Given the description of an element on the screen output the (x, y) to click on. 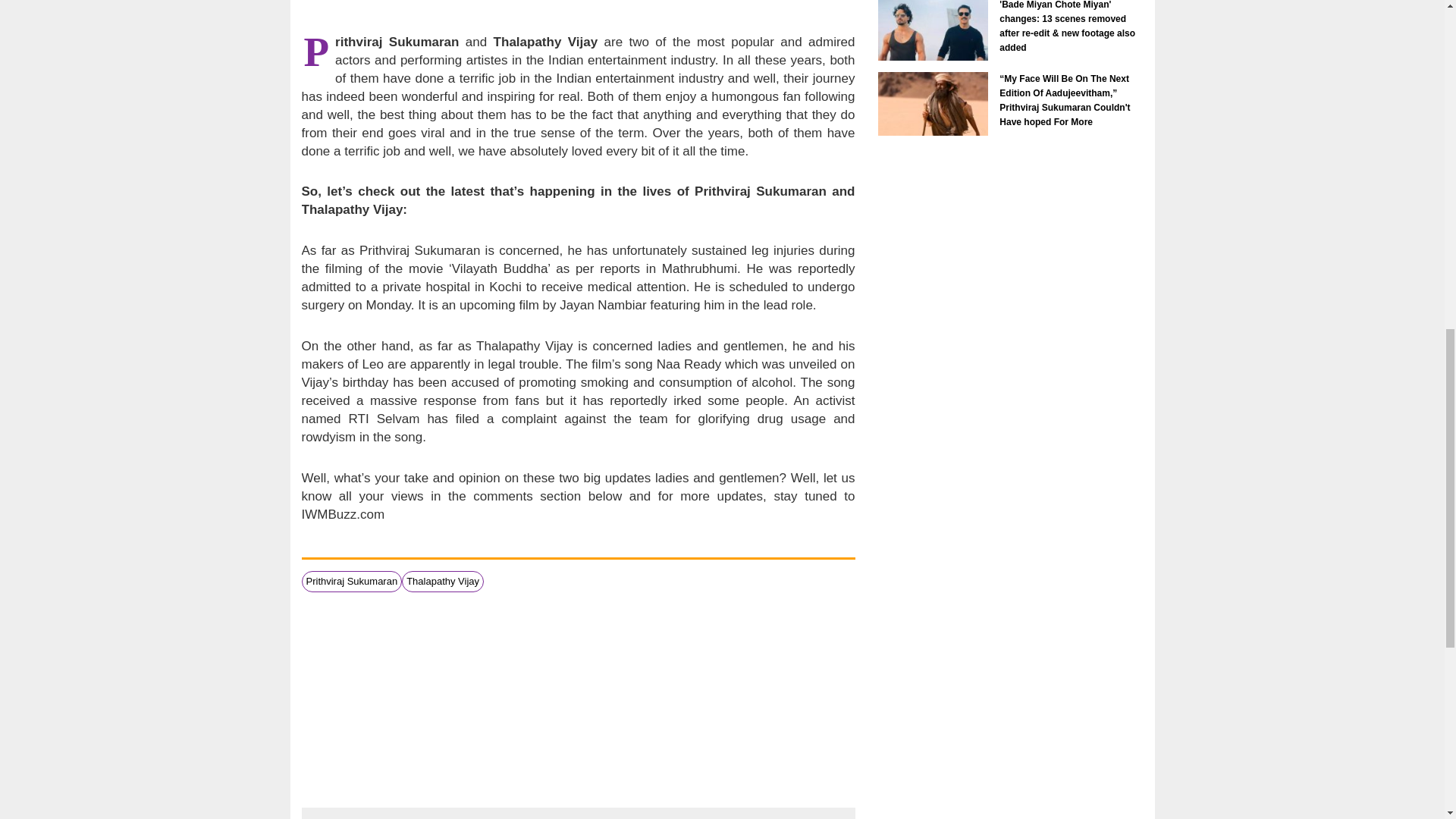
Prithviraj Sukumaran (351, 581)
3rd party ad content (577, 698)
3rd party ad content (577, 9)
Thalapathy Vijay (442, 581)
